Given the description of an element on the screen output the (x, y) to click on. 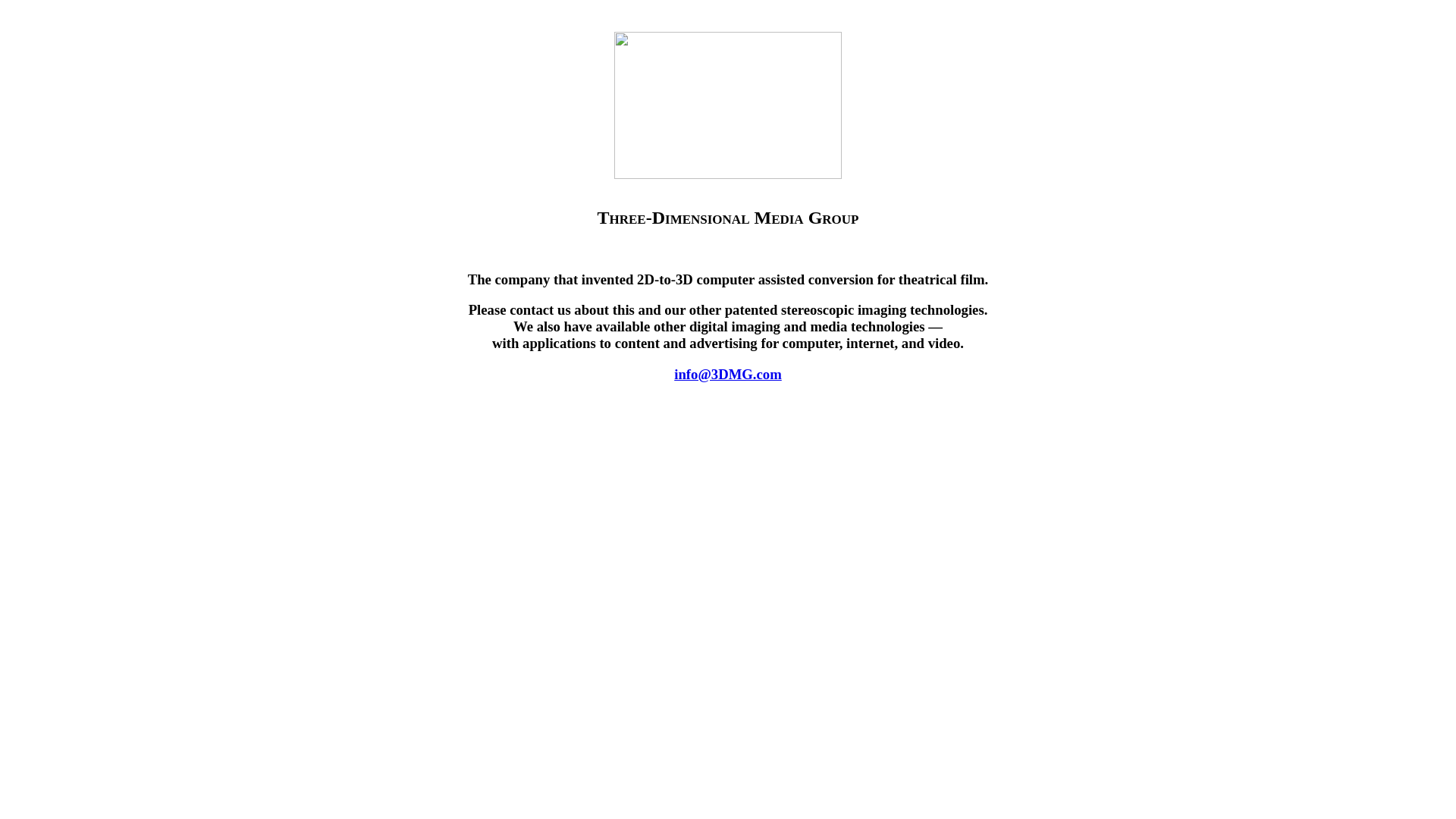
info@3DMG.com Element type: text (727, 374)
